Given the description of an element on the screen output the (x, y) to click on. 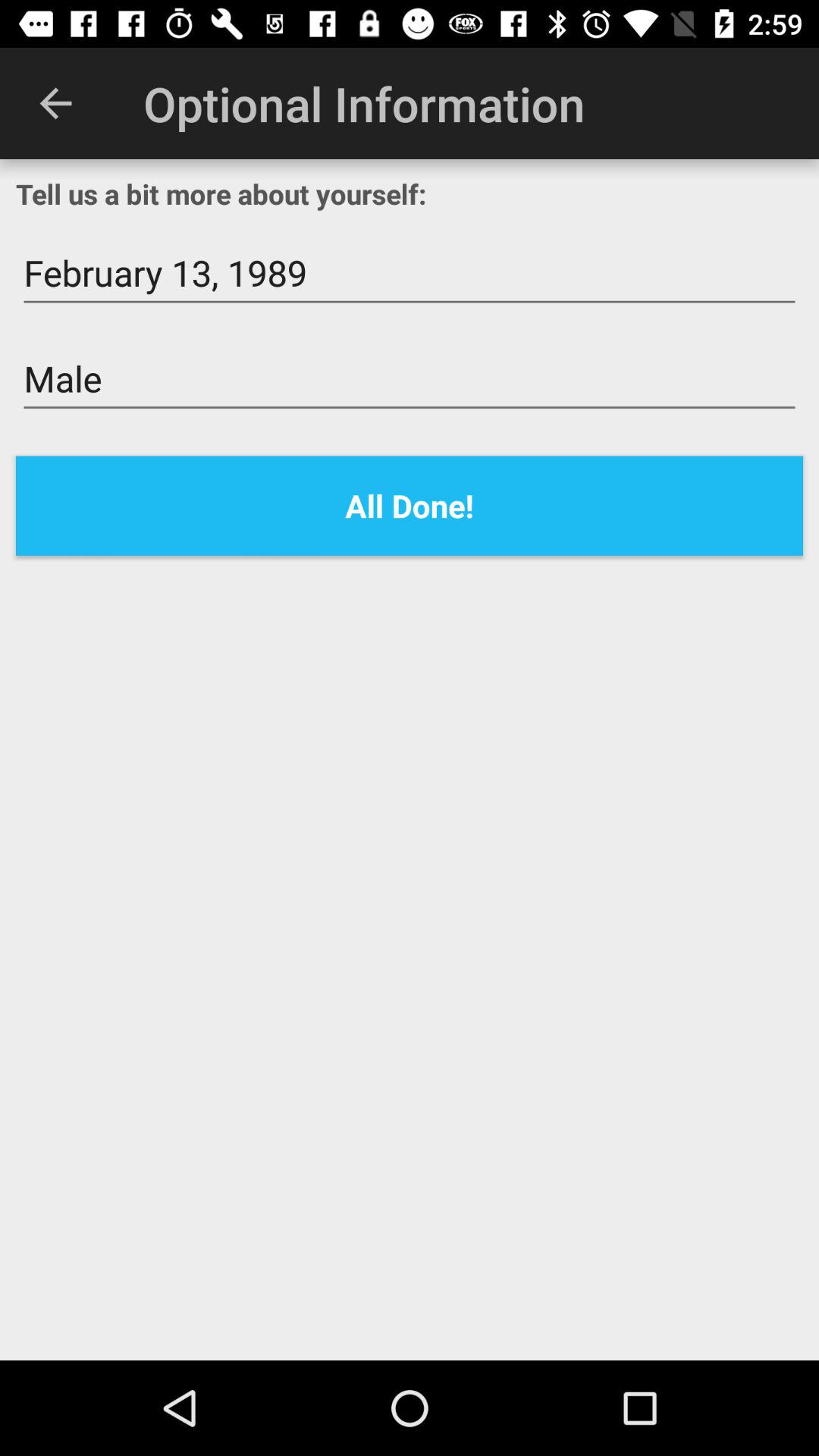
launch the icon to the left of the optional information item (55, 103)
